Given the description of an element on the screen output the (x, y) to click on. 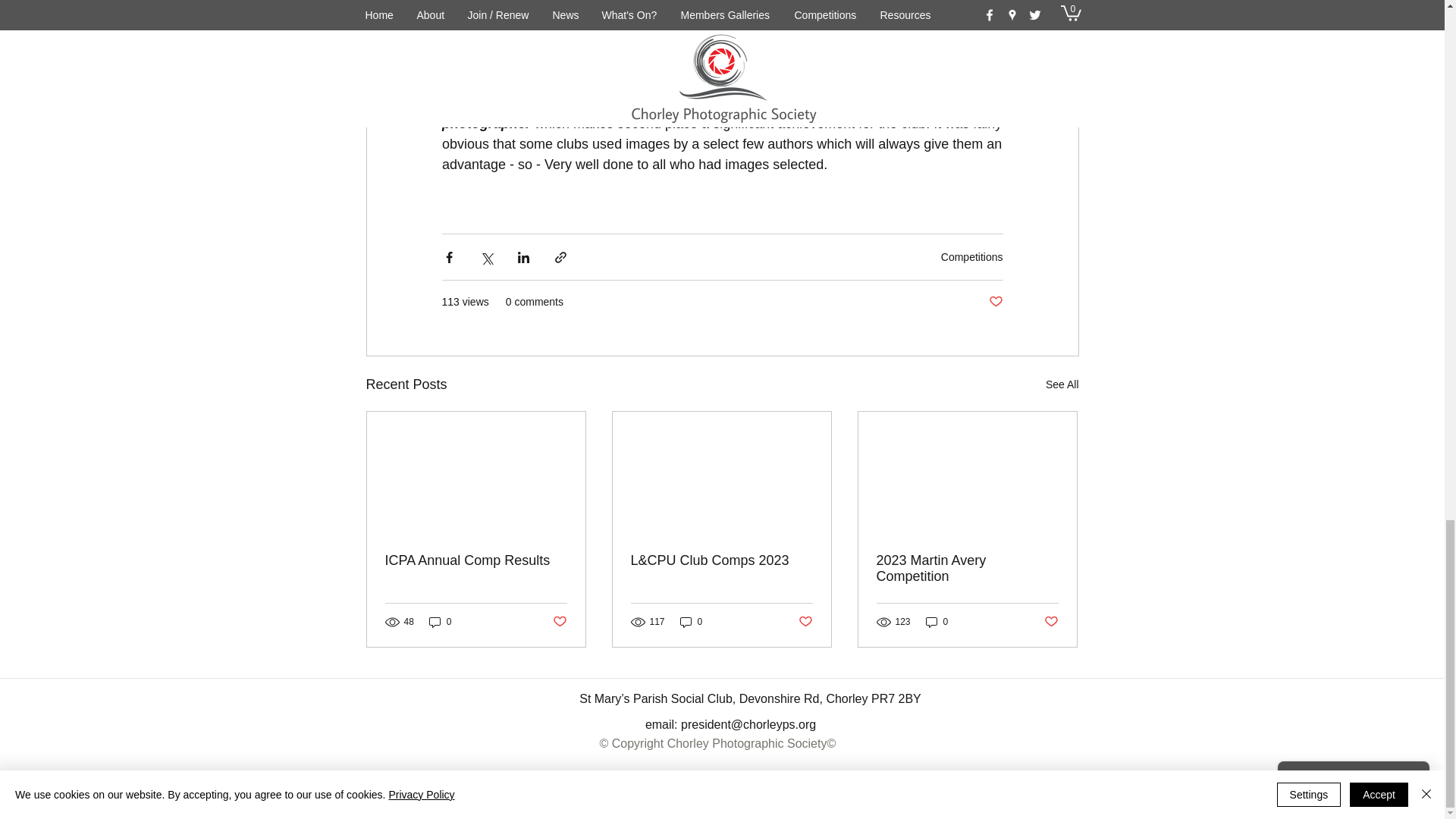
ICPA Annual Comp Results (476, 560)
Competitions (971, 256)
Post not marked as liked (995, 302)
Post not marked as liked (558, 621)
See All (1061, 384)
0 (440, 622)
